Given the description of an element on the screen output the (x, y) to click on. 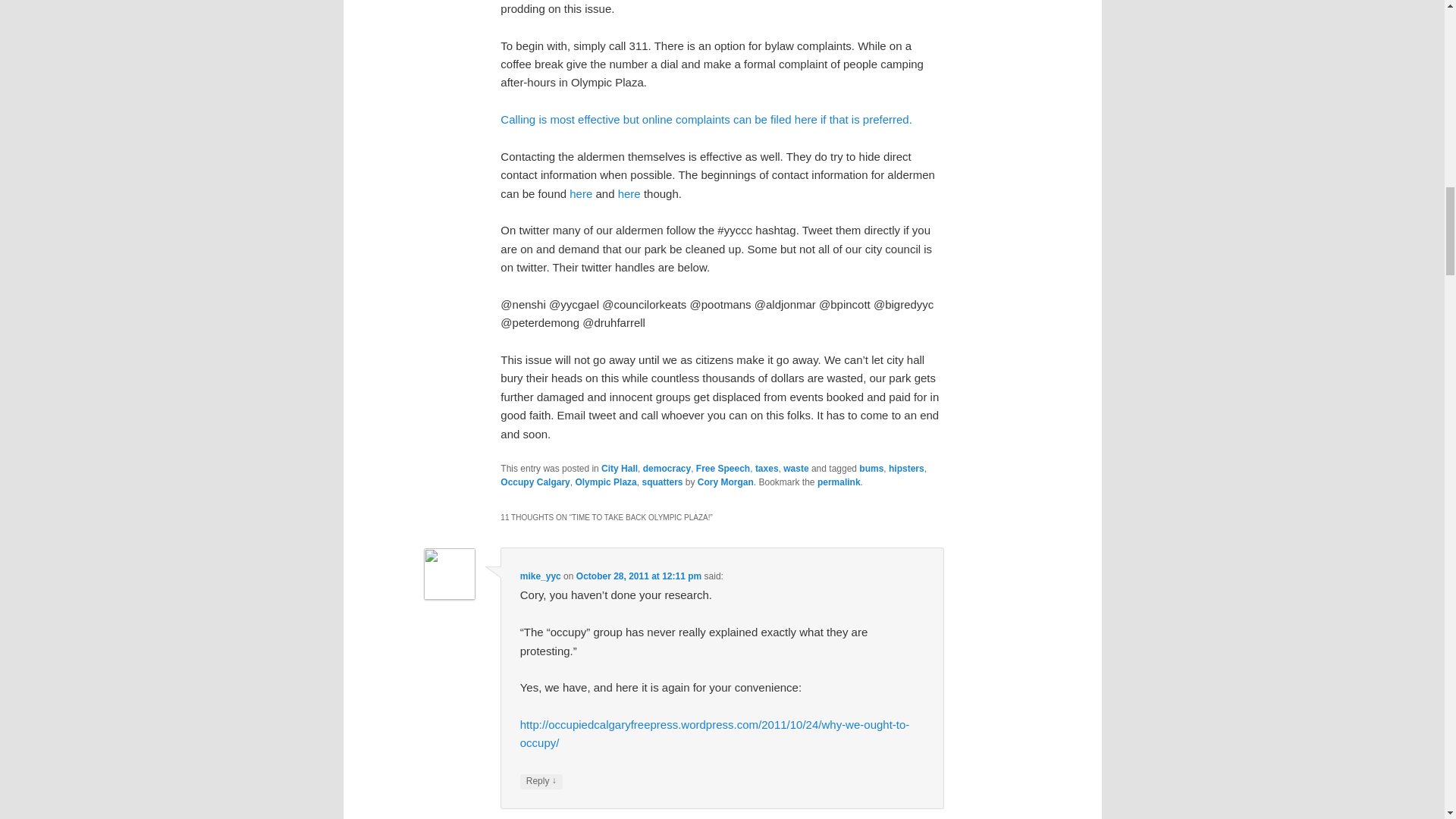
Permalink to Time to take back Olympic Plaza! (838, 481)
here (580, 193)
Occupy Calgary (534, 481)
bums (871, 468)
waste (795, 468)
democracy (666, 468)
taxes (766, 468)
hipsters (906, 468)
Olympic Plaza (605, 481)
